Given the description of an element on the screen output the (x, y) to click on. 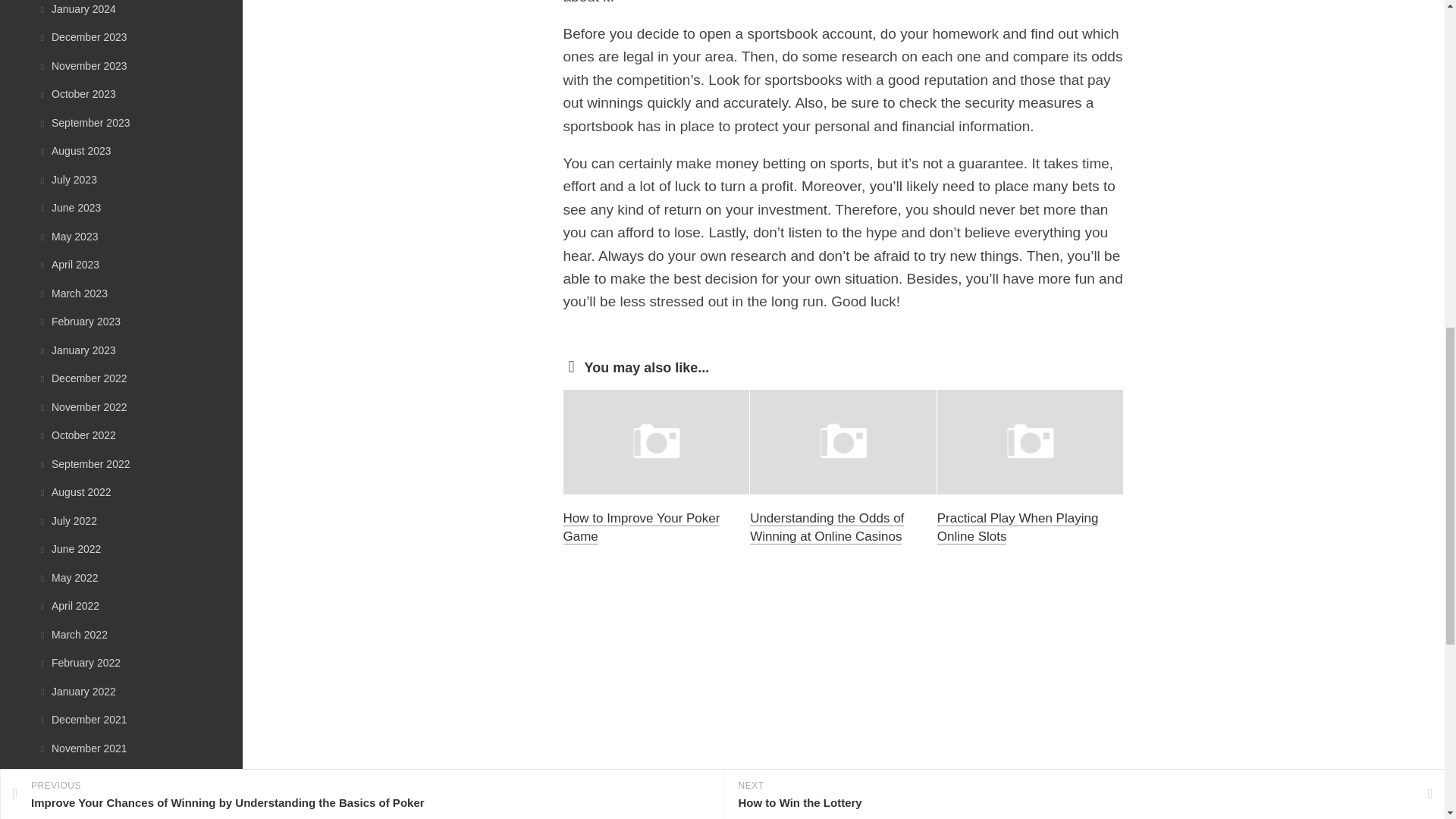
Practical Play When Playing Online Slots (1018, 527)
August 2023 (74, 150)
January 2023 (76, 349)
July 2023 (67, 178)
May 2023 (67, 236)
November 2023 (82, 64)
December 2022 (82, 378)
Understanding the Odds of Winning at Online Casinos (826, 527)
October 2023 (76, 93)
September 2023 (84, 122)
How to Improve Your Poker Game (640, 527)
January 2024 (76, 9)
December 2023 (82, 37)
April 2023 (68, 264)
June 2023 (68, 207)
